Given the description of an element on the screen output the (x, y) to click on. 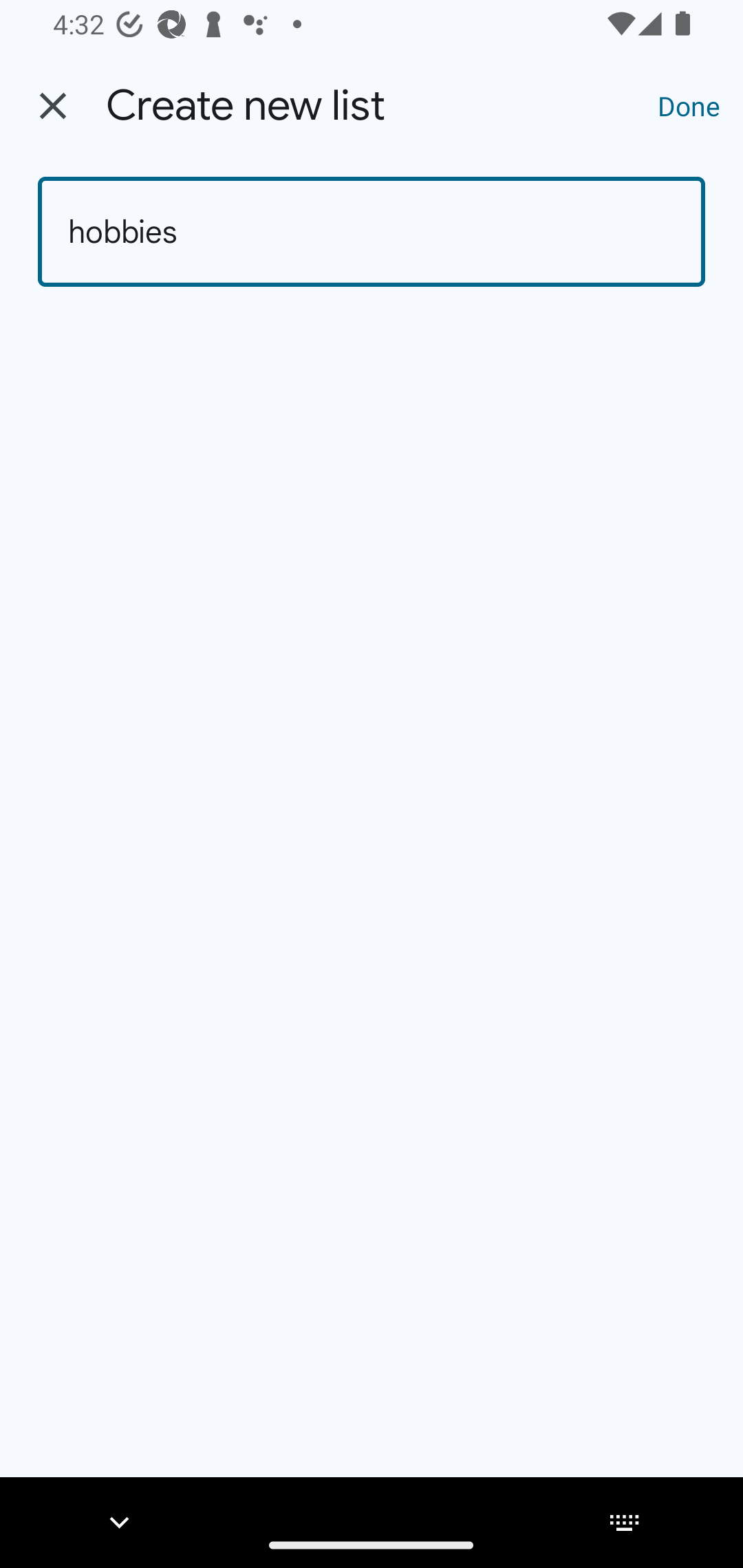
Back (53, 105)
Done (689, 105)
hobbies (371, 231)
